Given the description of an element on the screen output the (x, y) to click on. 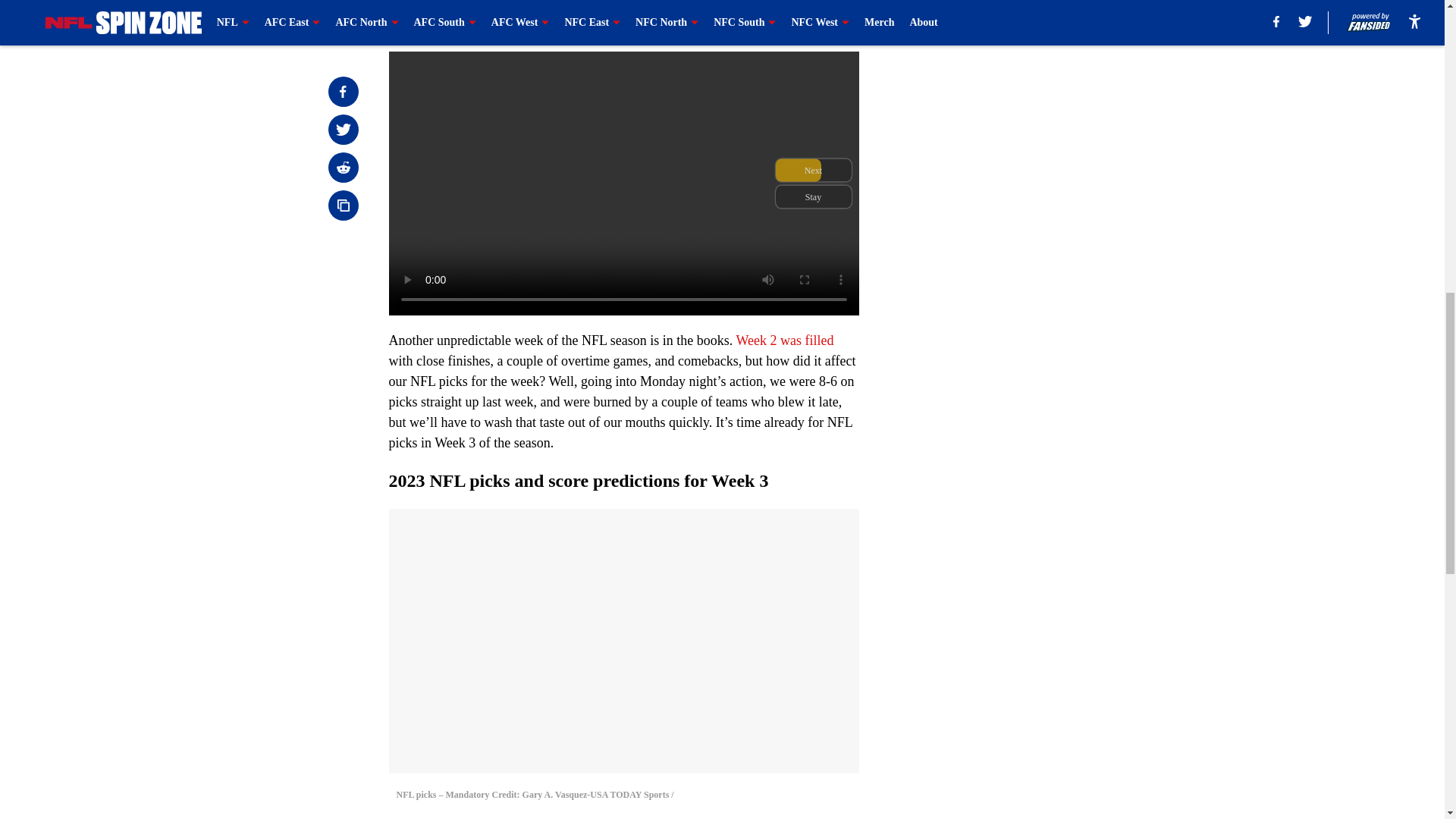
3rd party ad content (1047, 100)
3rd party ad content (1047, 320)
